Given the description of an element on the screen output the (x, y) to click on. 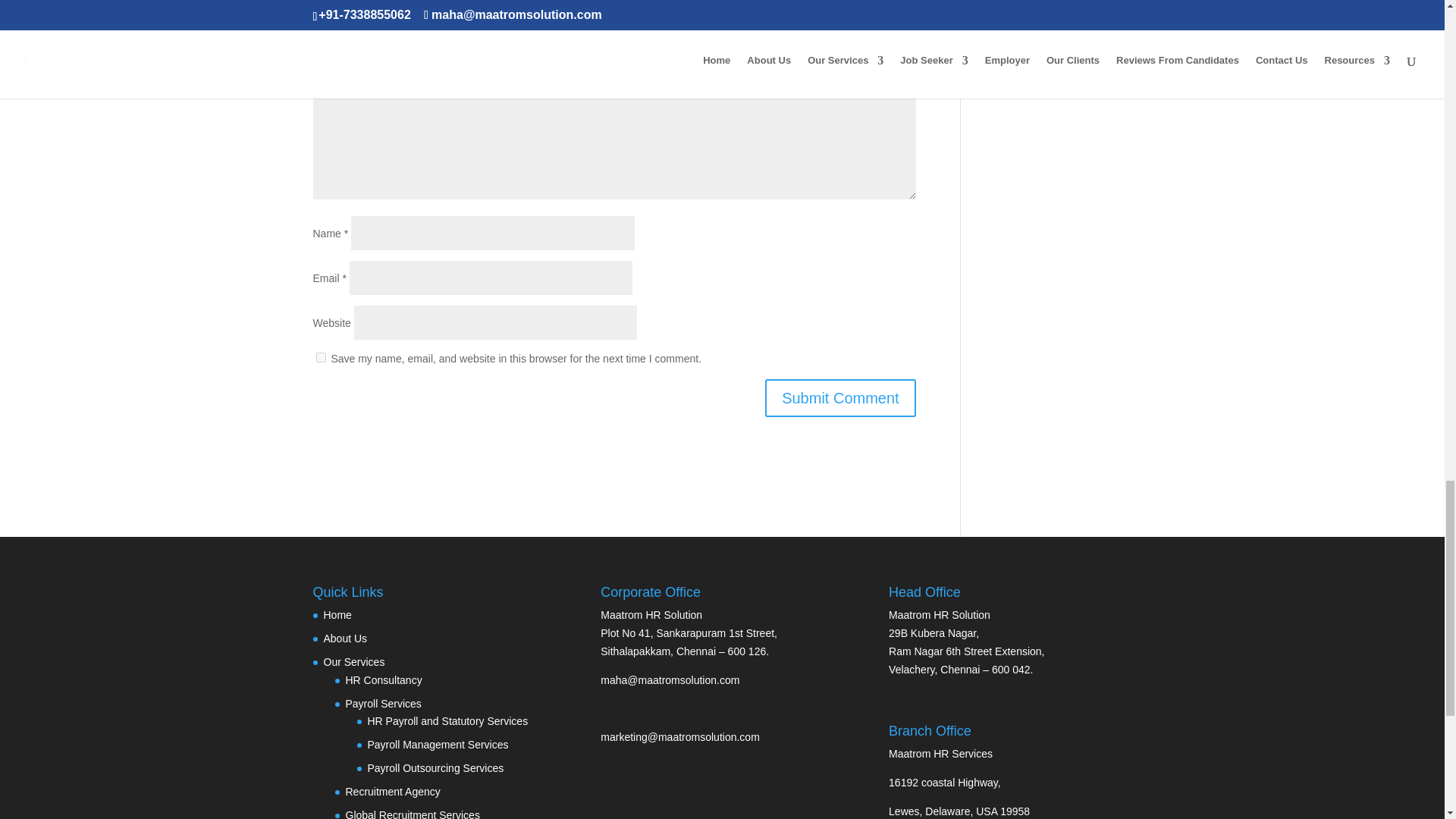
About Us (344, 638)
Submit Comment (840, 397)
Home (336, 614)
Submit Comment (840, 397)
HR Consultancy (384, 680)
yes (319, 357)
Our Services (353, 662)
